Given the description of an element on the screen output the (x, y) to click on. 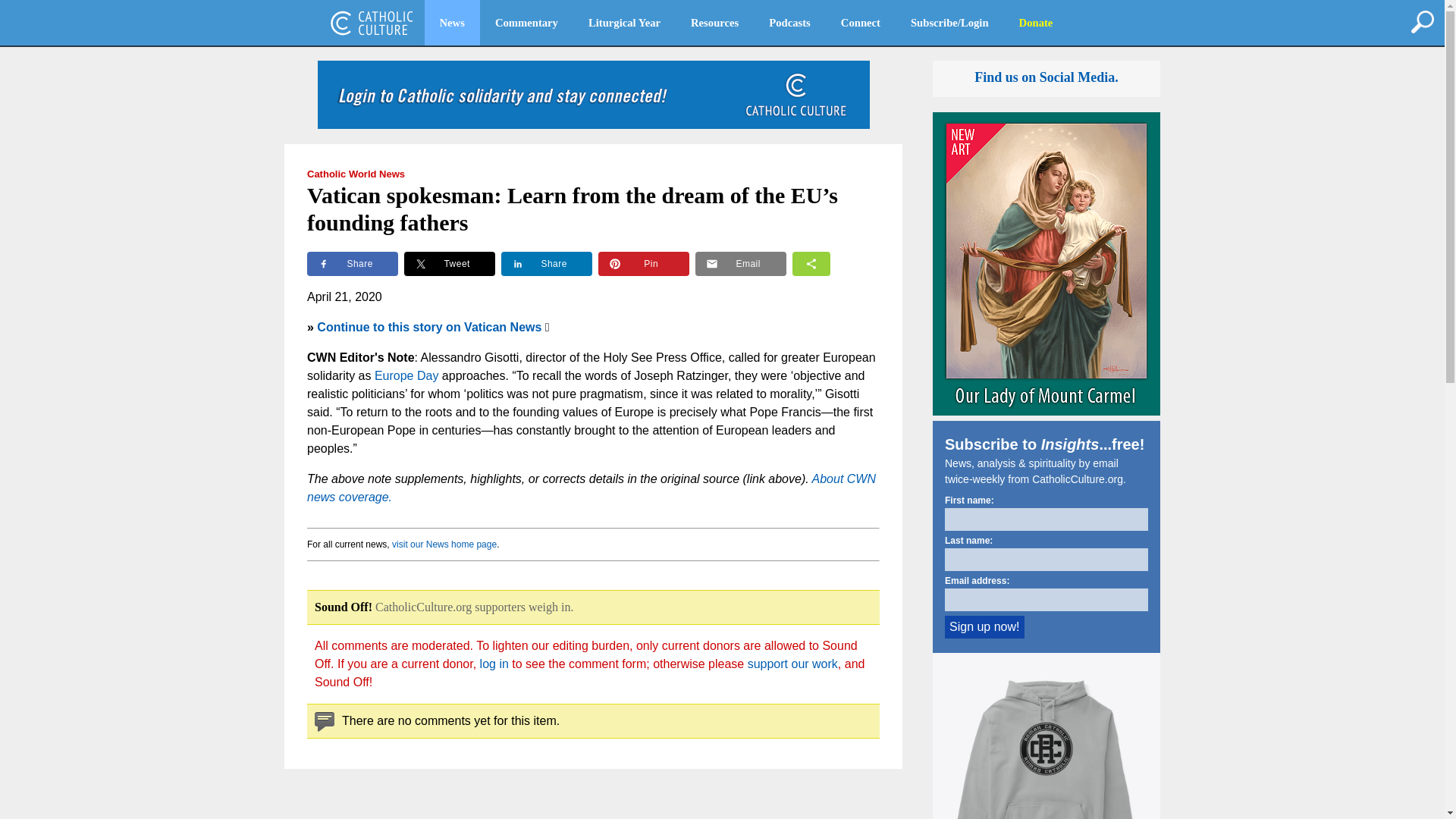
Sign up now! (984, 626)
Podcasts (789, 22)
Commentary (526, 22)
News (452, 22)
Resources (714, 22)
CatholicCulture.org (371, 22)
Liturgical Year (624, 22)
